Given the description of an element on the screen output the (x, y) to click on. 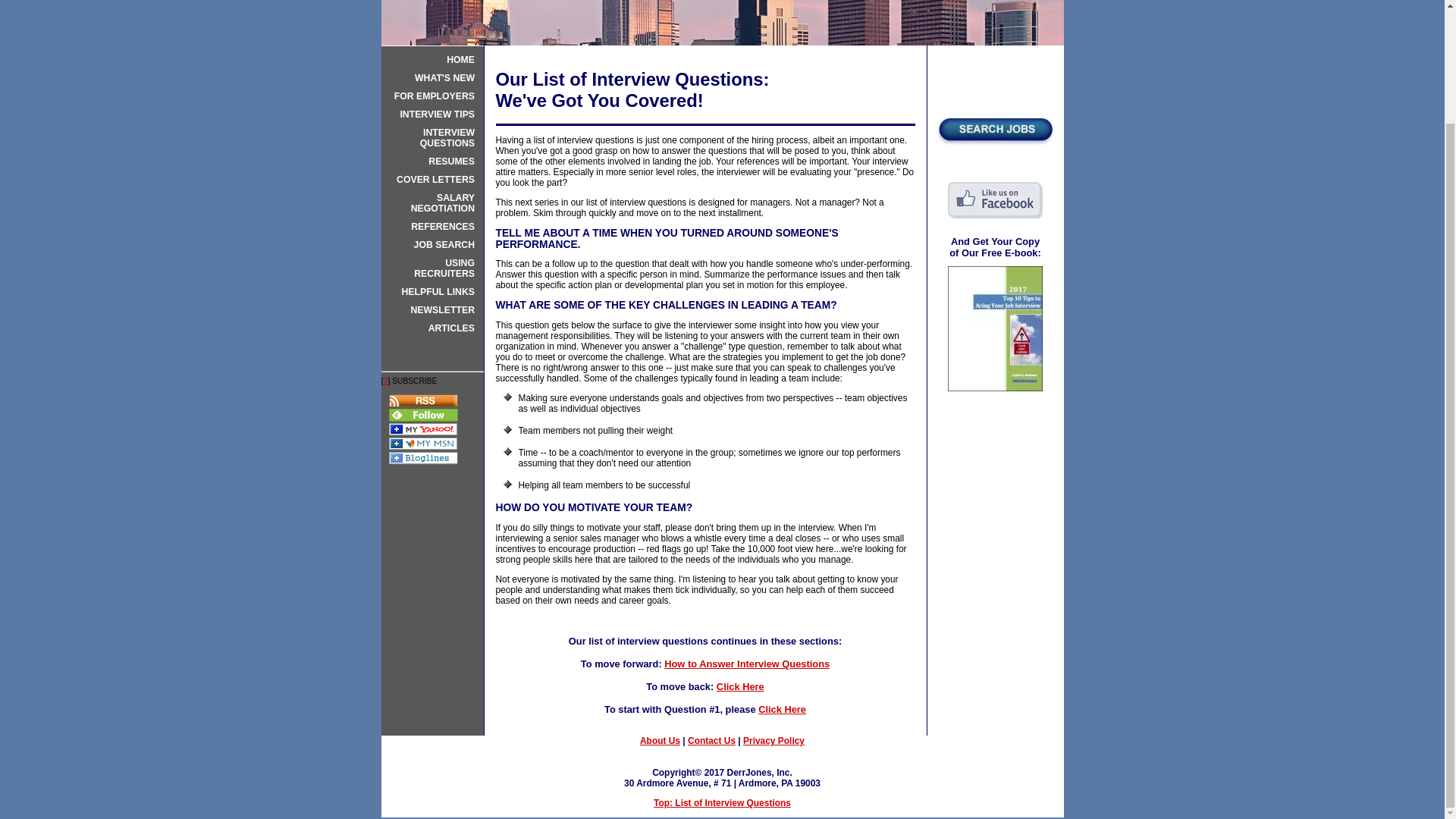
INTERVIEW TIPS (432, 114)
REFERENCES (432, 226)
JOB SEARCH (432, 244)
Privacy Policy (773, 740)
NEWSLETTER (432, 310)
ARTICLES (432, 328)
Contact Us (711, 740)
HELPFUL LINKS (432, 291)
RESUMES (432, 161)
INTERVIEW QUESTIONS (432, 137)
